Given the description of an element on the screen output the (x, y) to click on. 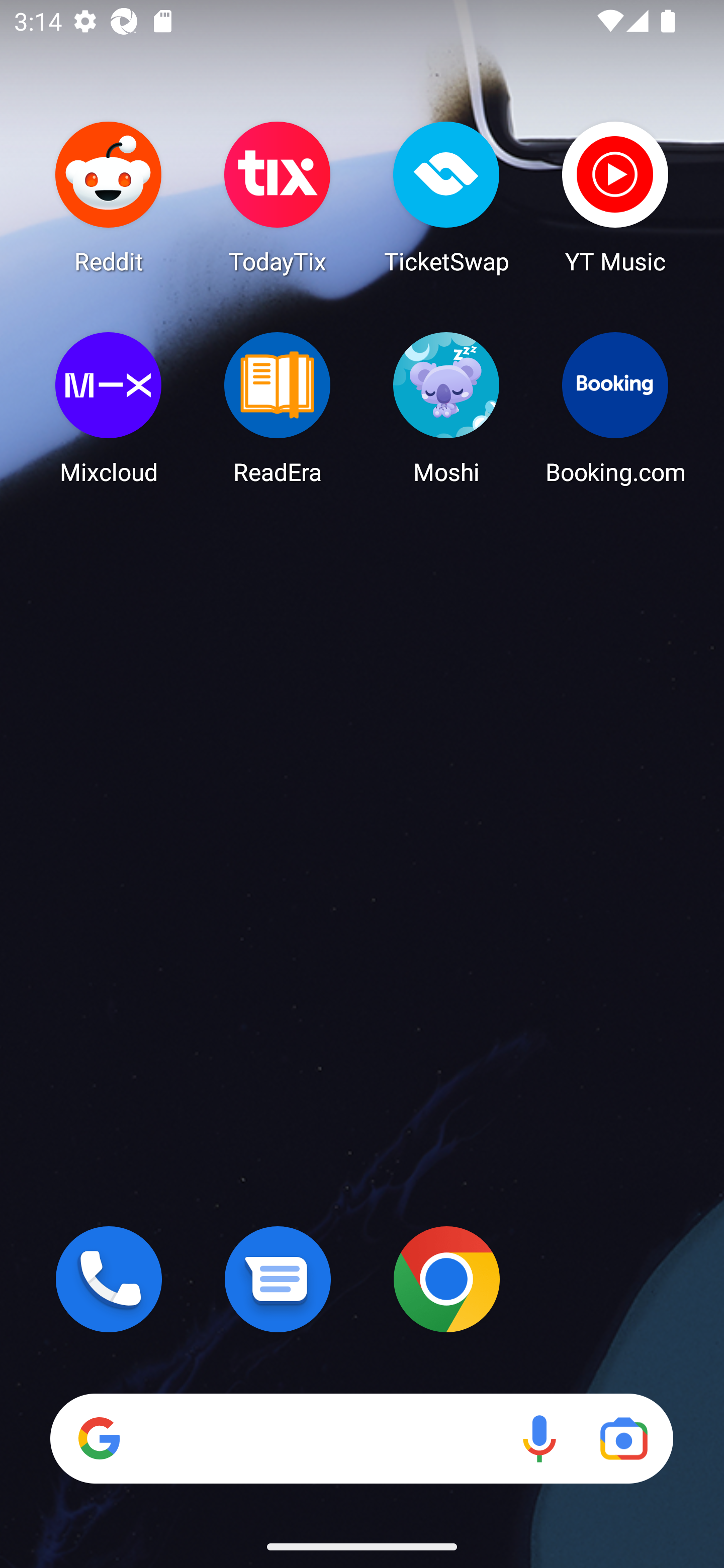
Reddit (108, 196)
TodayTix (277, 196)
TicketSwap (445, 196)
YT Music (615, 196)
Mixcloud (108, 407)
ReadEra (277, 407)
Moshi (445, 407)
Booking.com (615, 407)
Phone (108, 1279)
Messages (277, 1279)
Chrome (446, 1279)
Search Voice search Google Lens (361, 1438)
Voice search (539, 1438)
Google Lens (623, 1438)
